Given the description of an element on the screen output the (x, y) to click on. 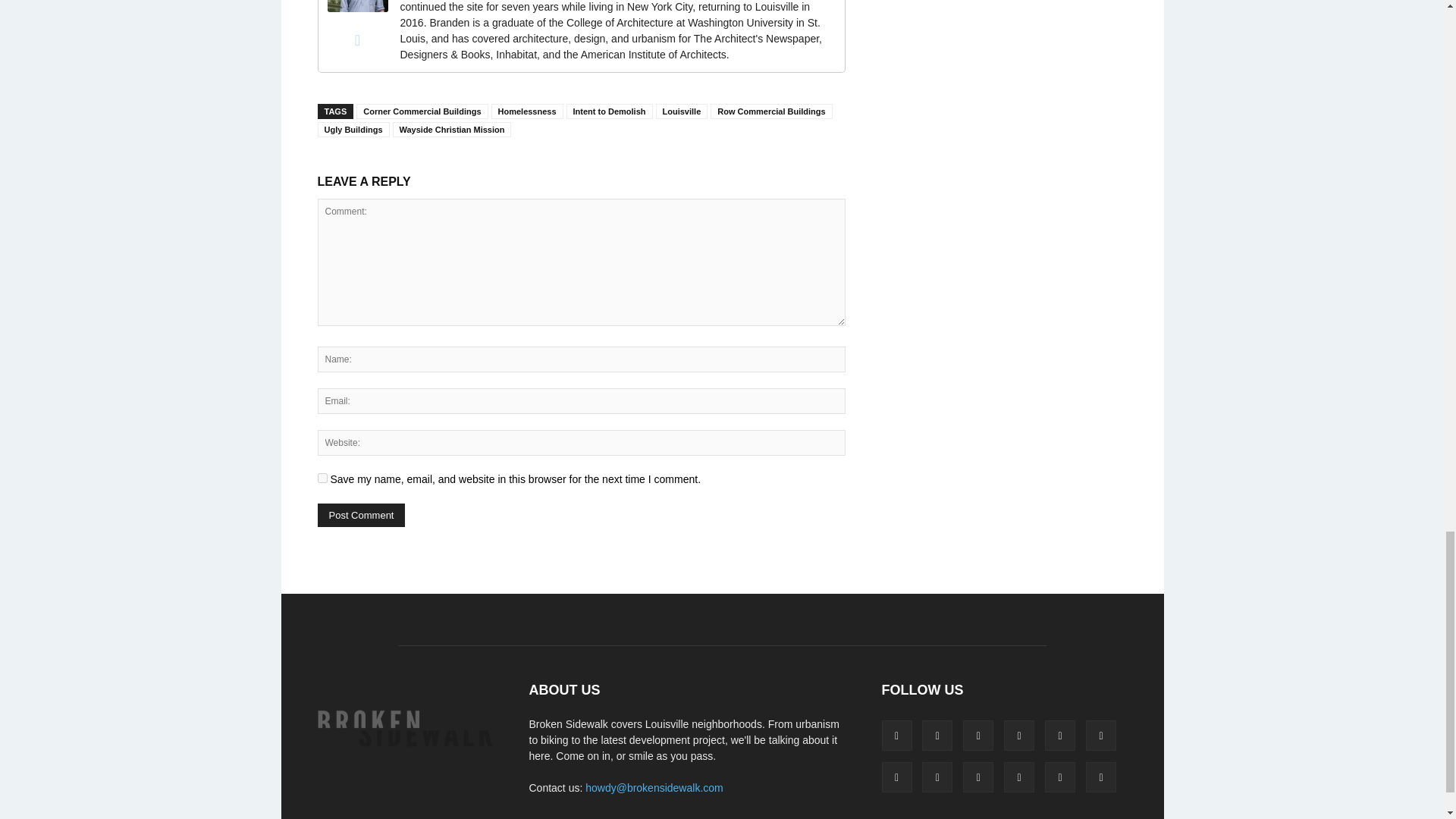
Post Comment (360, 515)
yes (321, 478)
